Given the description of an element on the screen output the (x, y) to click on. 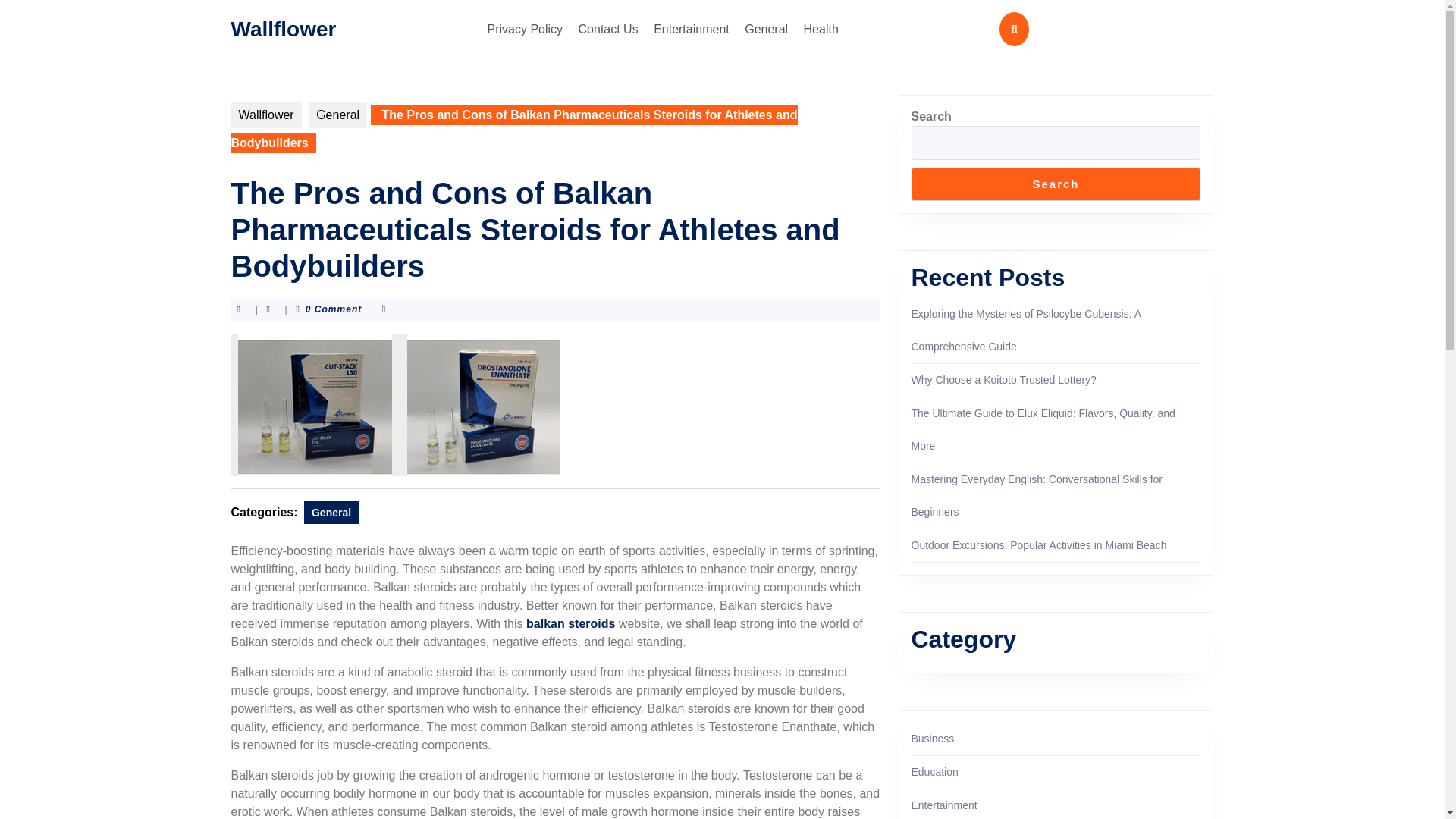
Health (820, 28)
Entertainment (691, 28)
Why Choose a Koitoto Trusted Lottery? (1003, 379)
Business (933, 738)
Wallflower (283, 28)
Outdoor Excursions: Popular Activities in Miami Beach (1039, 544)
General (337, 114)
Search (1056, 183)
Wallflower (265, 114)
General (331, 512)
General (765, 28)
Privacy Policy (524, 28)
